Given the description of an element on the screen output the (x, y) to click on. 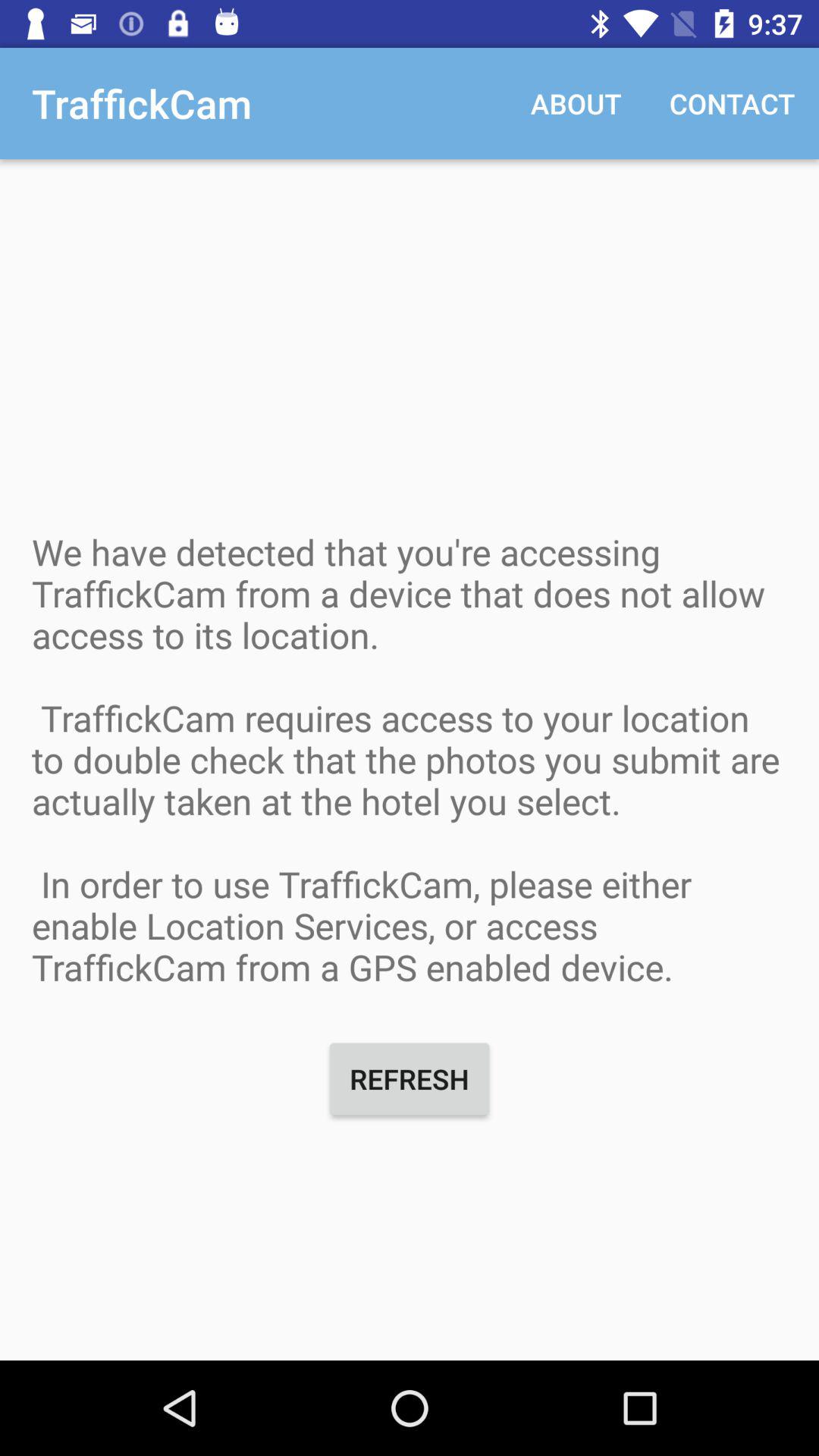
launch the item next to the about icon (732, 103)
